Given the description of an element on the screen output the (x, y) to click on. 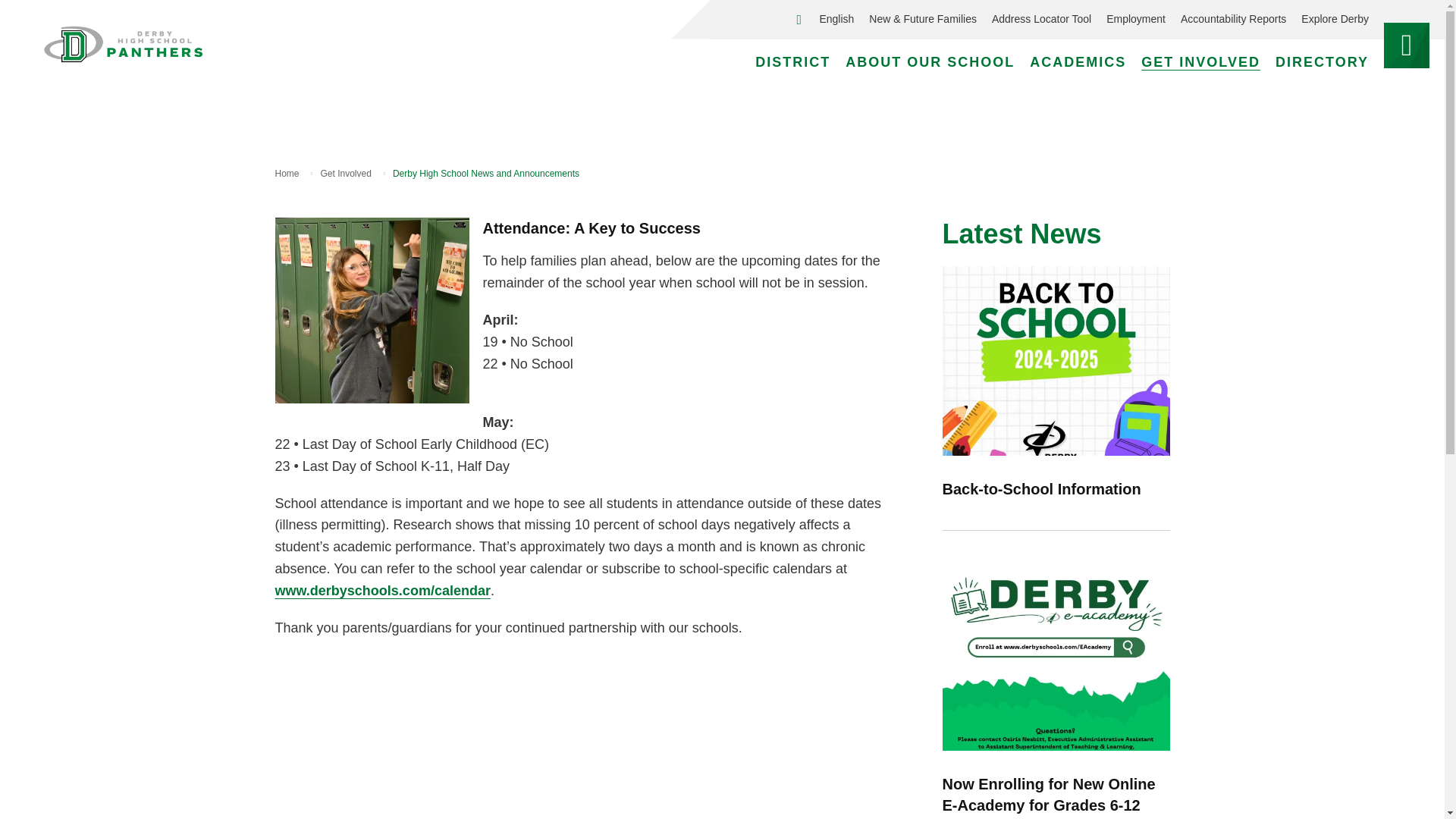
School Calendars (382, 590)
